Given the description of an element on the screen output the (x, y) to click on. 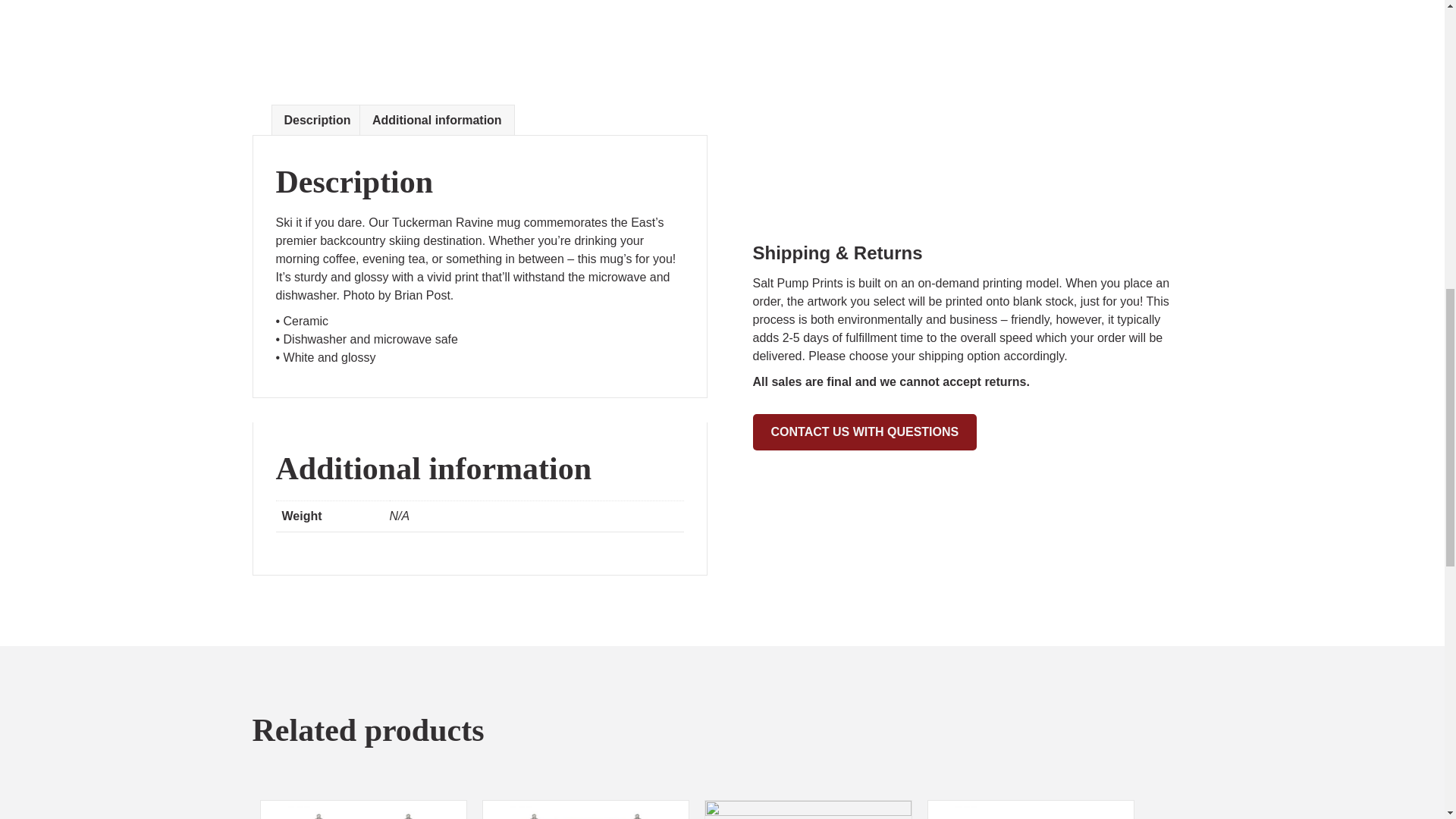
CONTACT US WITH QUESTIONS (864, 432)
Description (316, 120)
Additional information (437, 120)
